Given the description of an element on the screen output the (x, y) to click on. 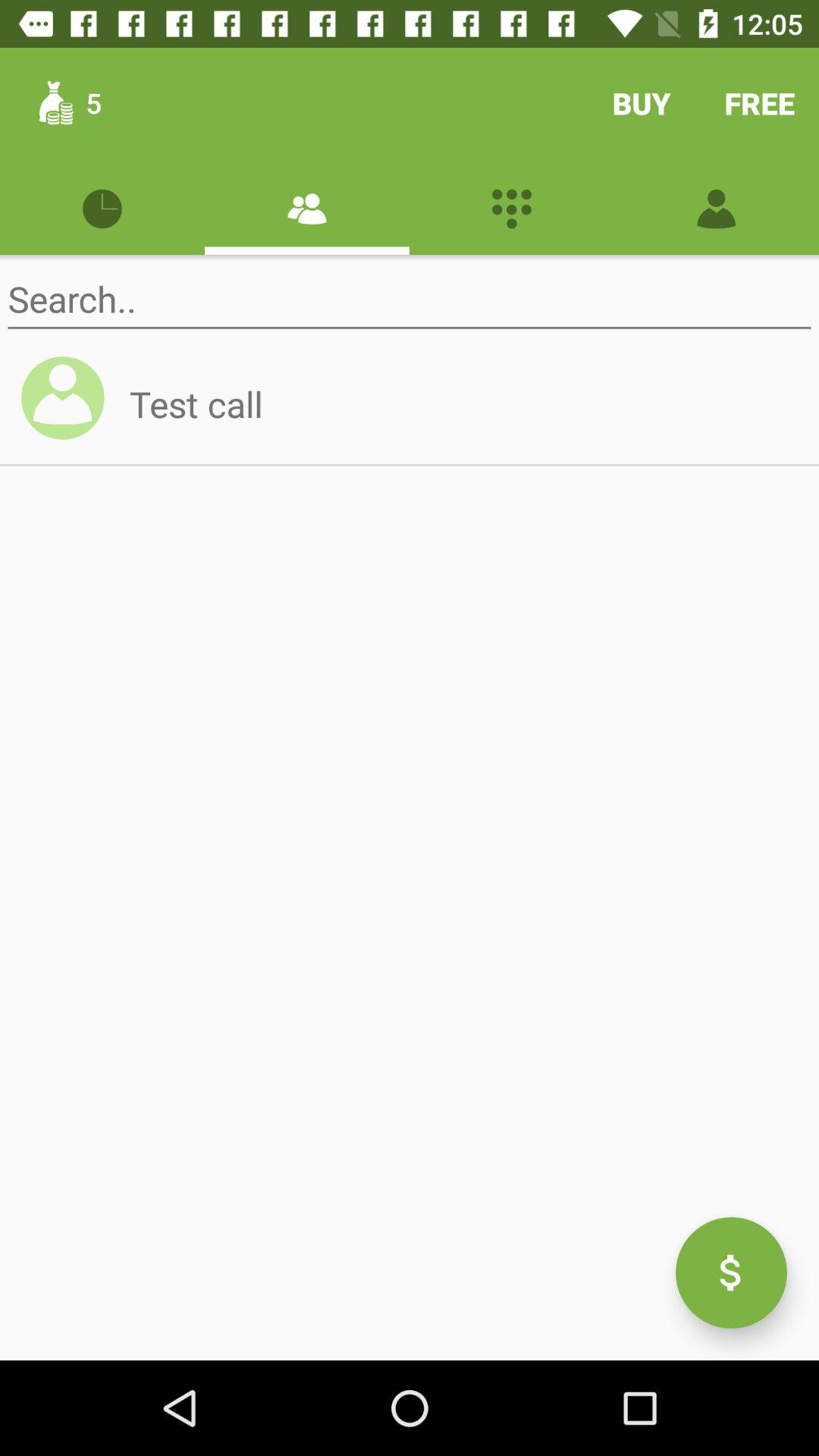
swipe to test call (464, 403)
